Given the description of an element on the screen output the (x, y) to click on. 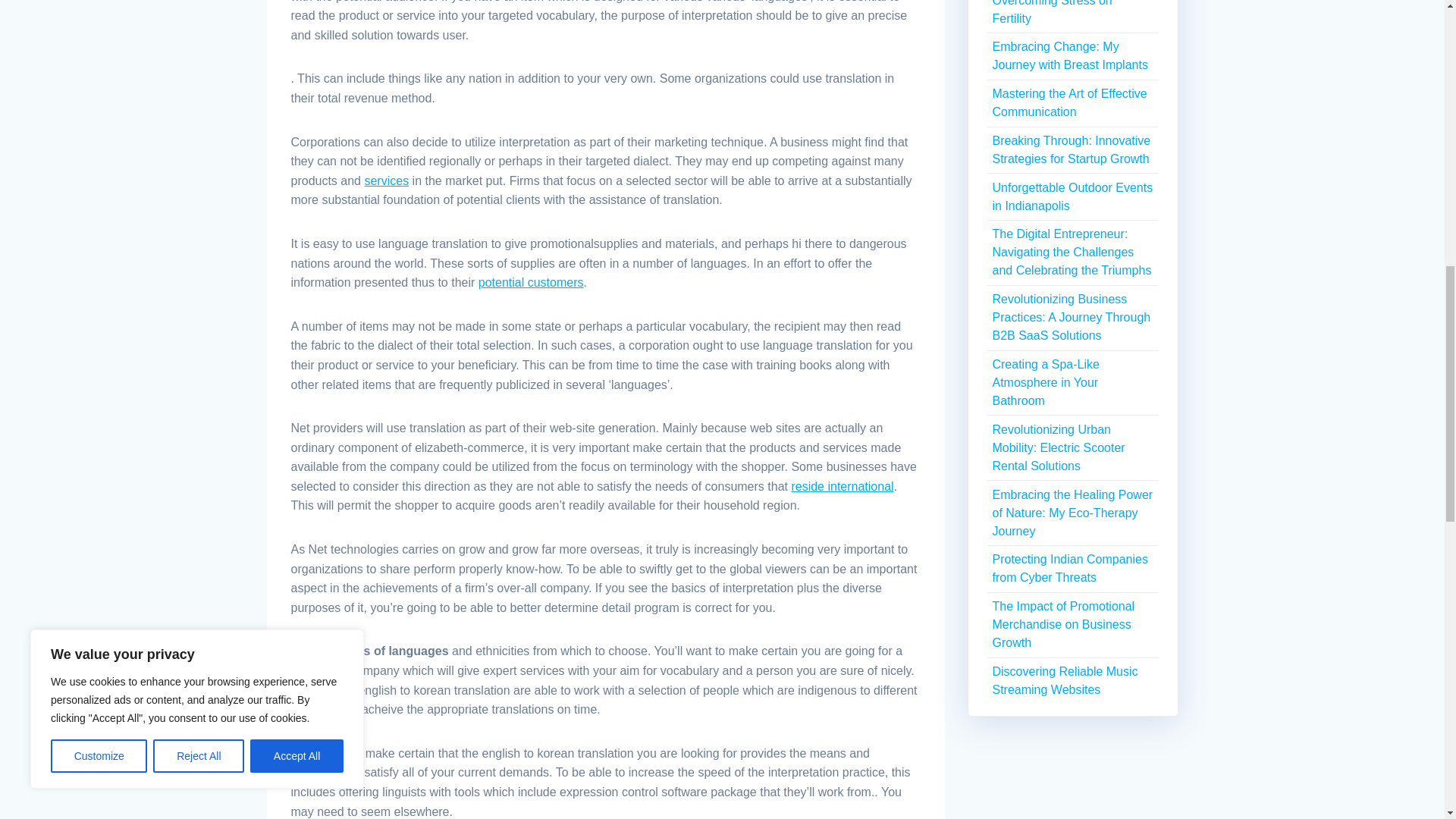
The Transformative Power of Overcoming Stress on Fertility (1069, 12)
reside international (841, 486)
services (386, 180)
Breaking Through: Innovative Strategies for Startup Growth (1070, 149)
Mastering the Art of Effective Communication (1069, 101)
potential customers (531, 282)
Embracing Change: My Journey with Breast Implants (1069, 55)
